Given the description of an element on the screen output the (x, y) to click on. 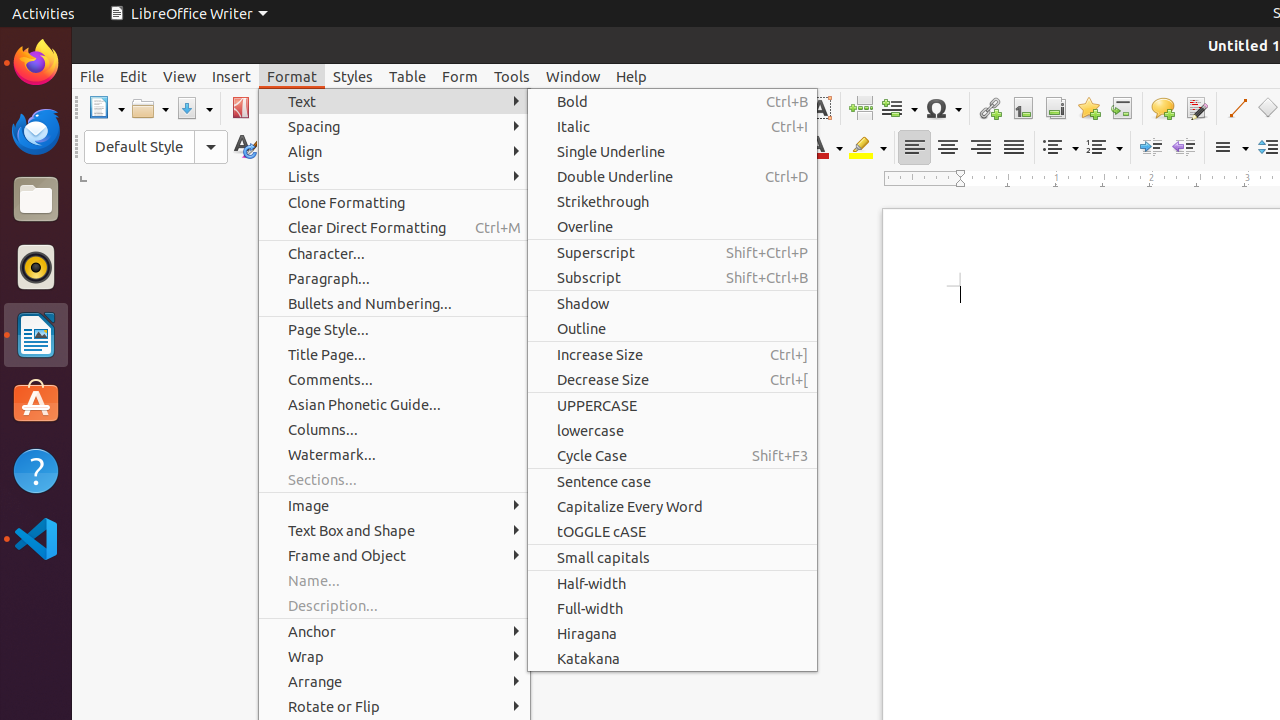
Lists Element type: menu (394, 176)
Text Box Element type: push-button (819, 108)
Chart Element type: push-button (786, 108)
Justified Element type: toggle-button (1013, 147)
Numbering Element type: push-button (1104, 147)
